Given the description of an element on the screen output the (x, y) to click on. 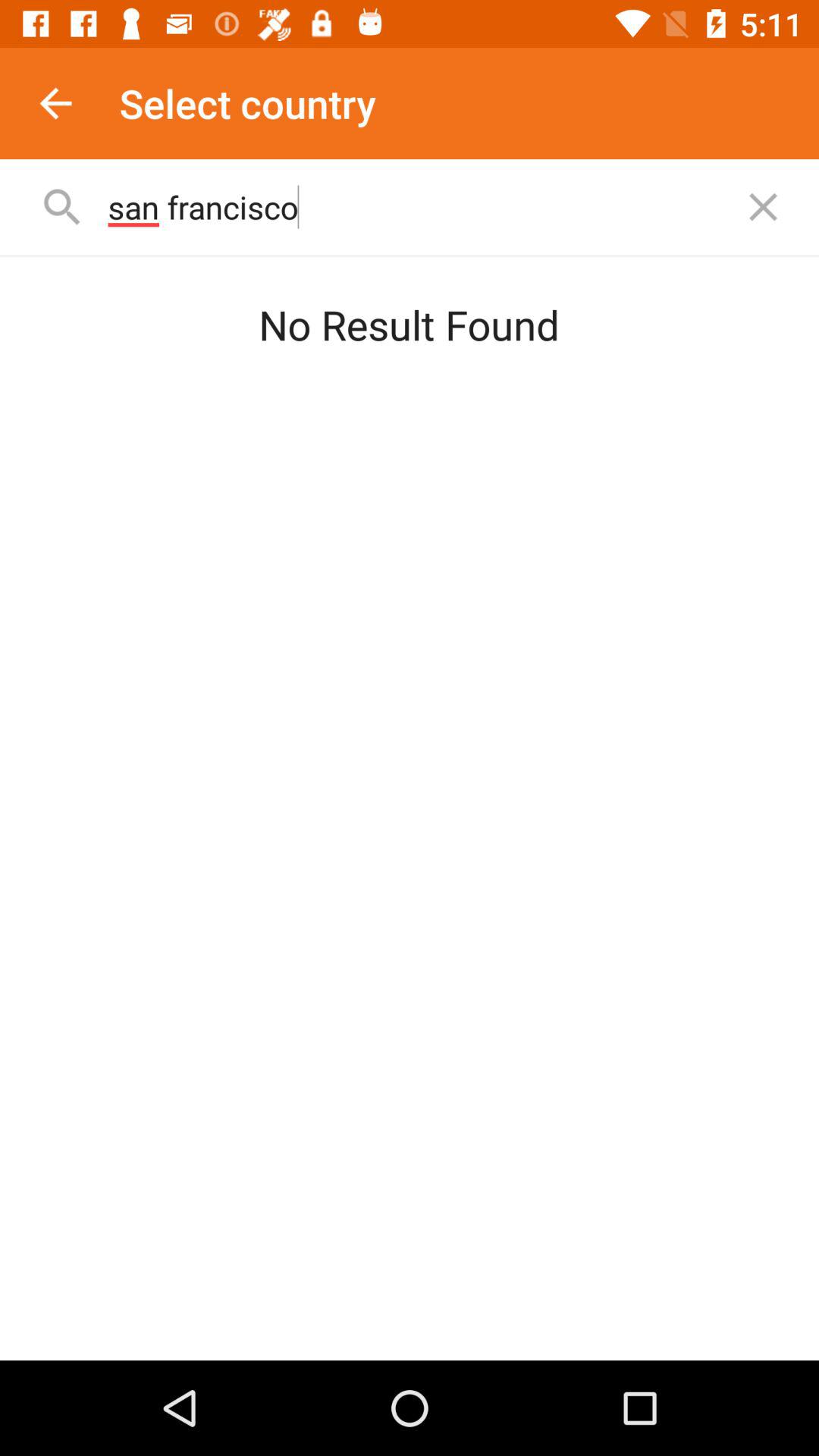
turn off item to the left of the select country app (55, 103)
